Given the description of an element on the screen output the (x, y) to click on. 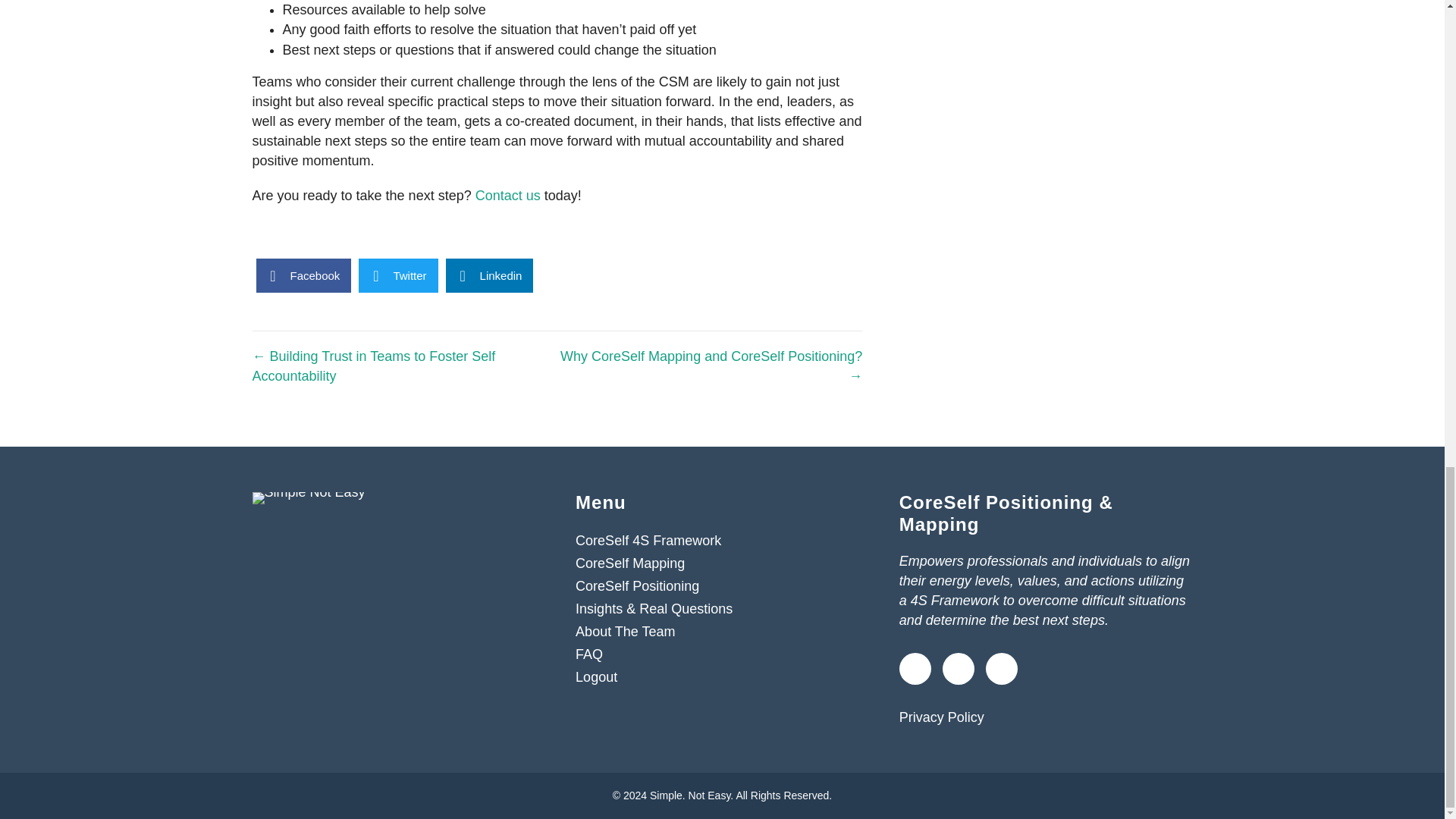
CoreSelf 4S Framework (722, 540)
Contact us (508, 195)
logo-white (308, 498)
Twitter (398, 275)
Linkedin (489, 275)
Facebook (304, 275)
